Given the description of an element on the screen output the (x, y) to click on. 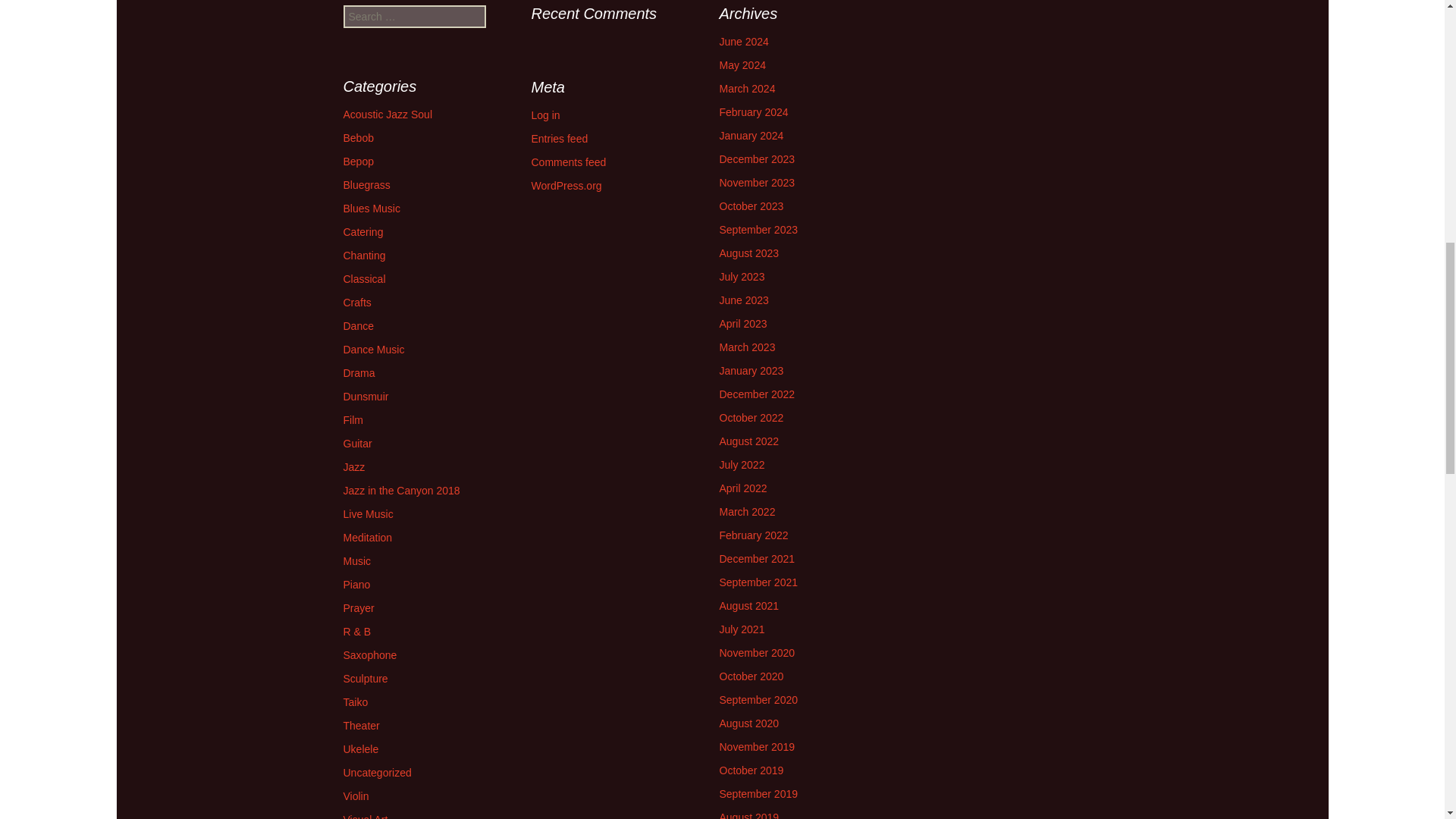
March 2023 (746, 346)
June 2024 (743, 41)
April 2023 (743, 323)
October 2023 (751, 205)
July 2023 (741, 276)
September 2023 (758, 229)
August 2023 (748, 253)
January 2024 (751, 135)
November 2023 (756, 182)
December 2023 (756, 159)
March 2024 (746, 88)
February 2024 (753, 111)
June 2023 (743, 300)
January 2023 (751, 370)
May 2024 (742, 64)
